Given the description of an element on the screen output the (x, y) to click on. 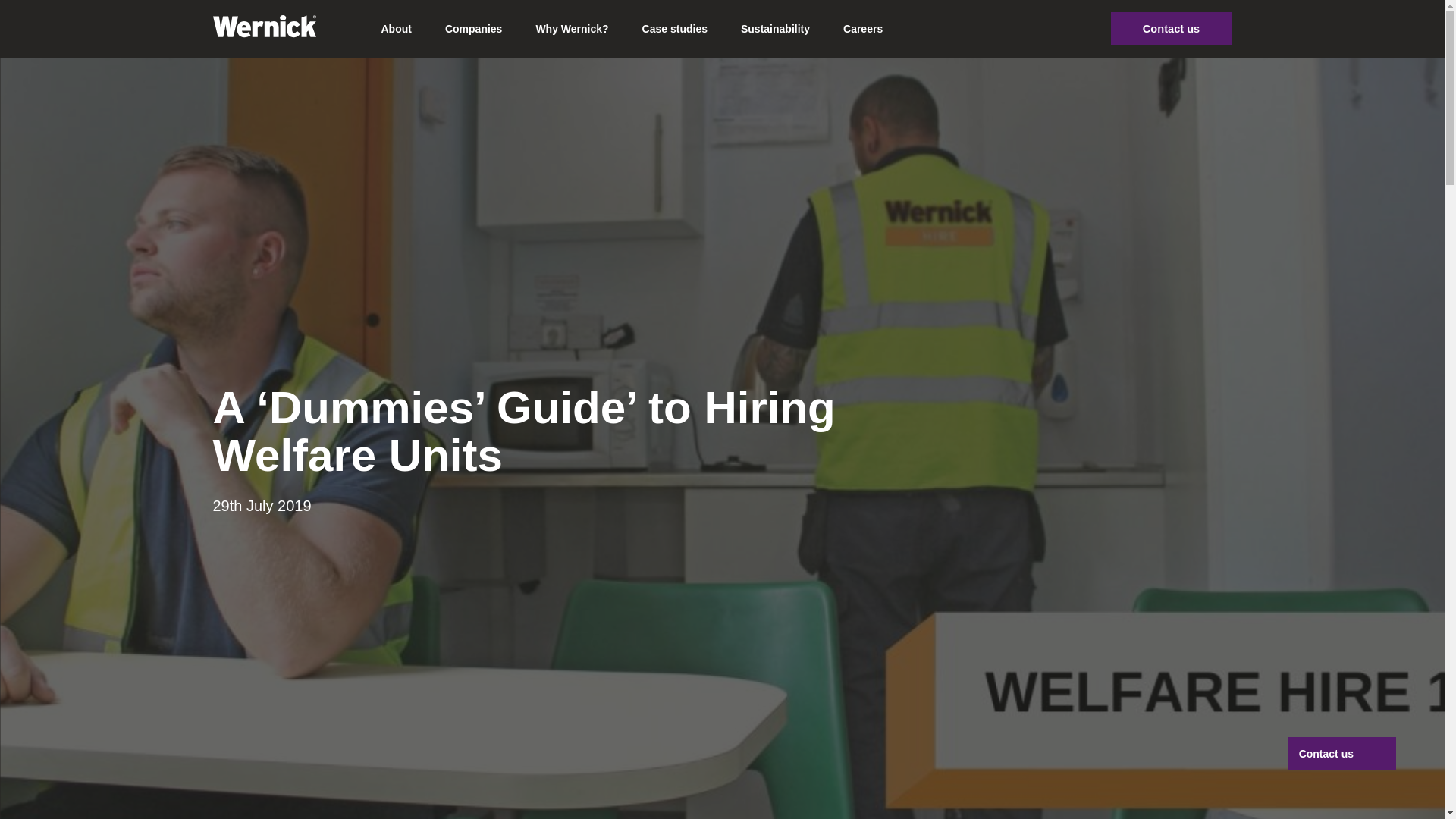
About (396, 28)
Case studies (674, 28)
Companies (473, 28)
Careers (863, 28)
Why Wernick? (571, 28)
Contact us (1170, 28)
Search (1076, 28)
Sustainability (775, 28)
